Given the description of an element on the screen output the (x, y) to click on. 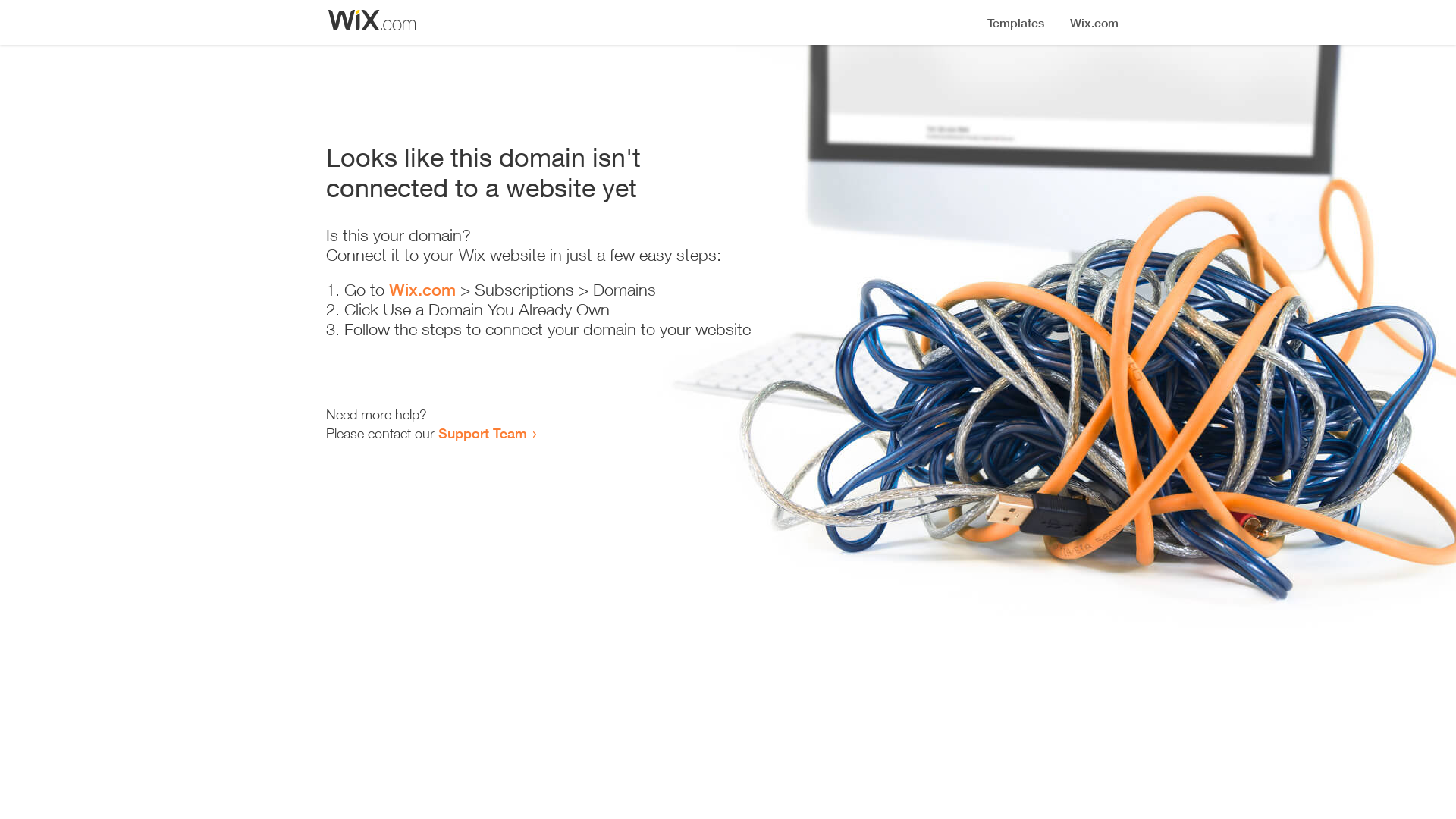
Wix.com Element type: text (422, 289)
Support Team Element type: text (482, 432)
